Given the description of an element on the screen output the (x, y) to click on. 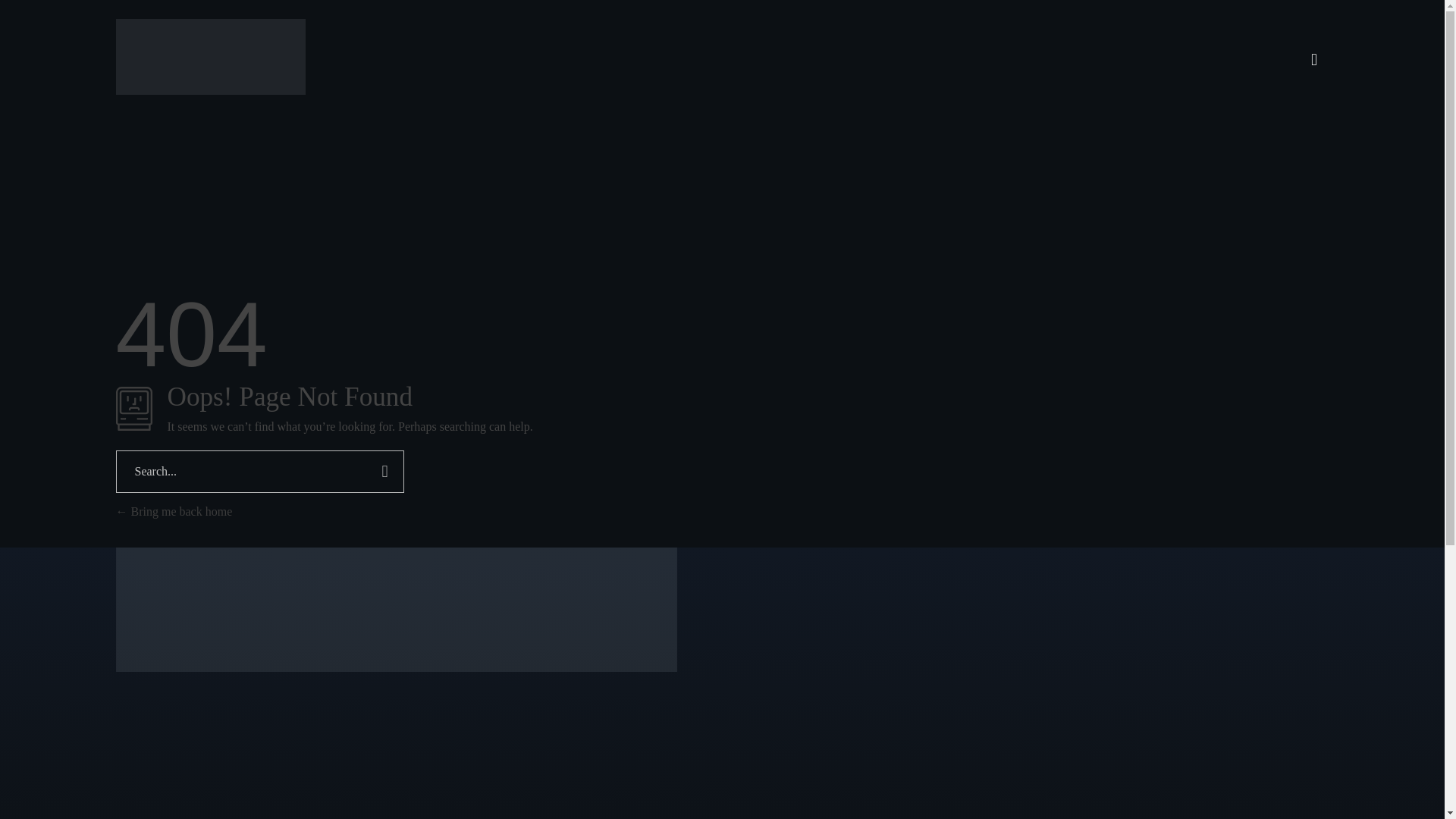
digixcity.com (172, 103)
Bring me back home (173, 511)
digixcity.com (209, 56)
digixcity.com (172, 103)
